Given the description of an element on the screen output the (x, y) to click on. 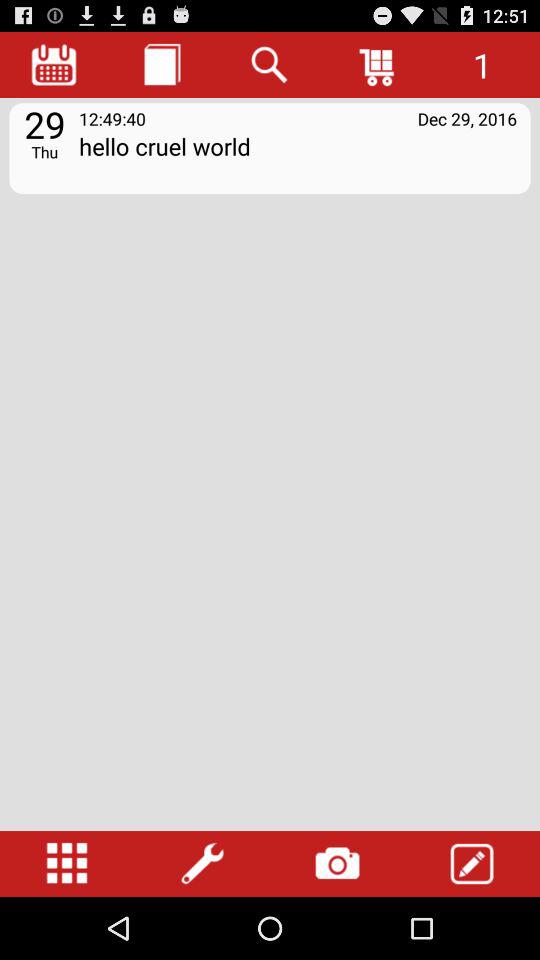
swipe to the hello cruel world item (298, 159)
